Given the description of an element on the screen output the (x, y) to click on. 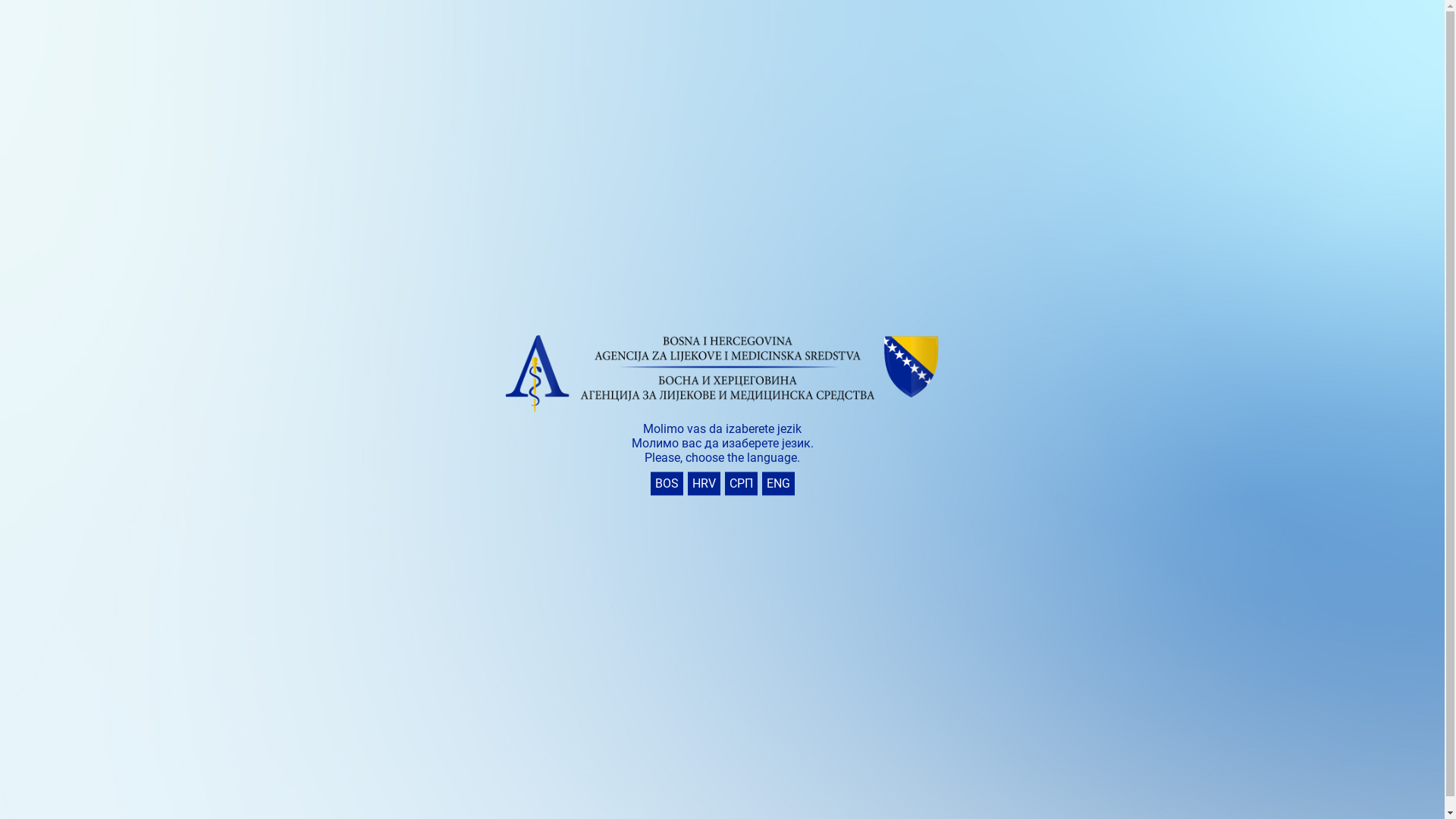
ENG Element type: text (777, 483)
HRV Element type: text (703, 483)
BOS Element type: text (666, 483)
